Given the description of an element on the screen output the (x, y) to click on. 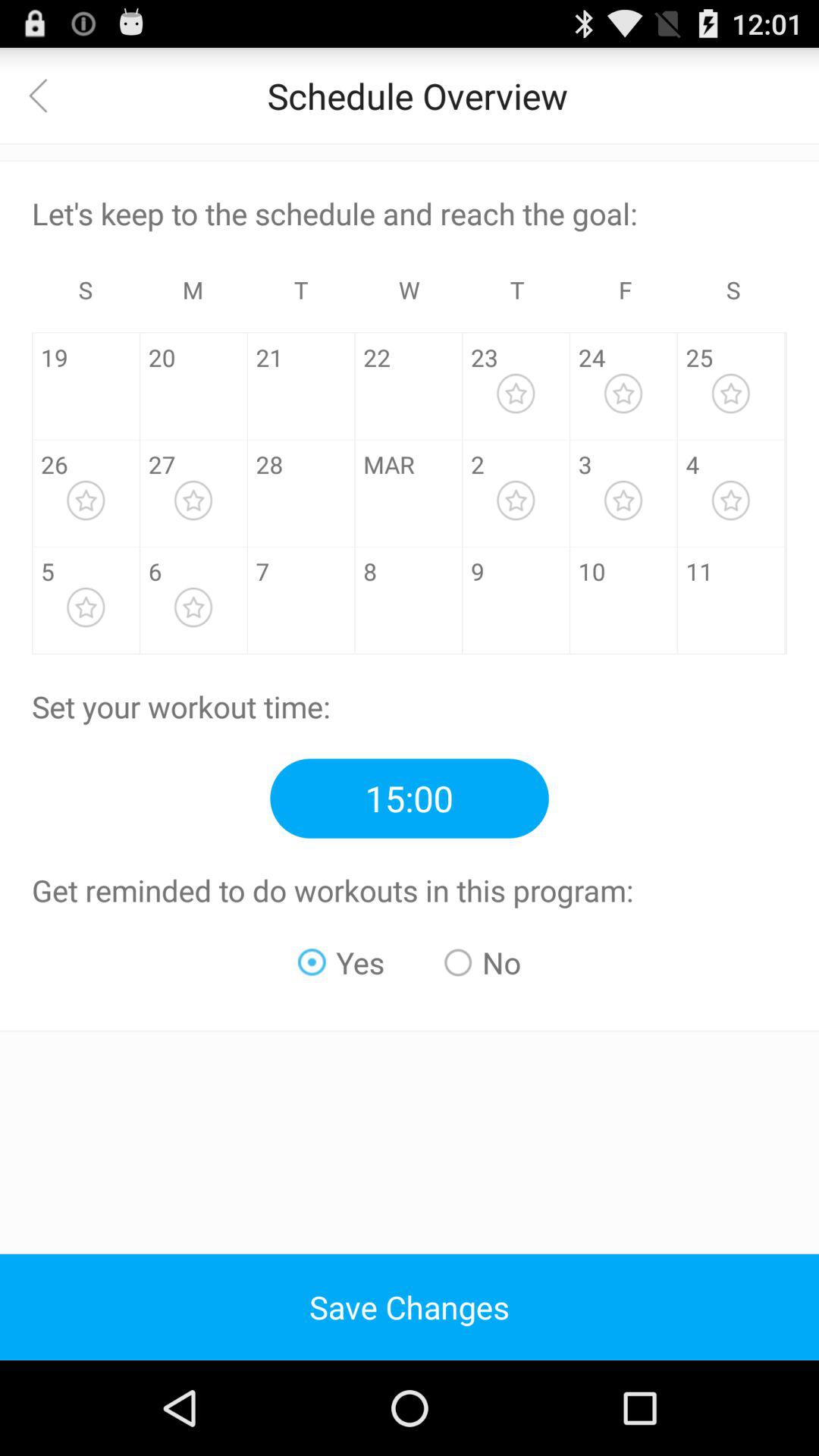
turn on the app below get reminded to icon (341, 962)
